Given the description of an element on the screen output the (x, y) to click on. 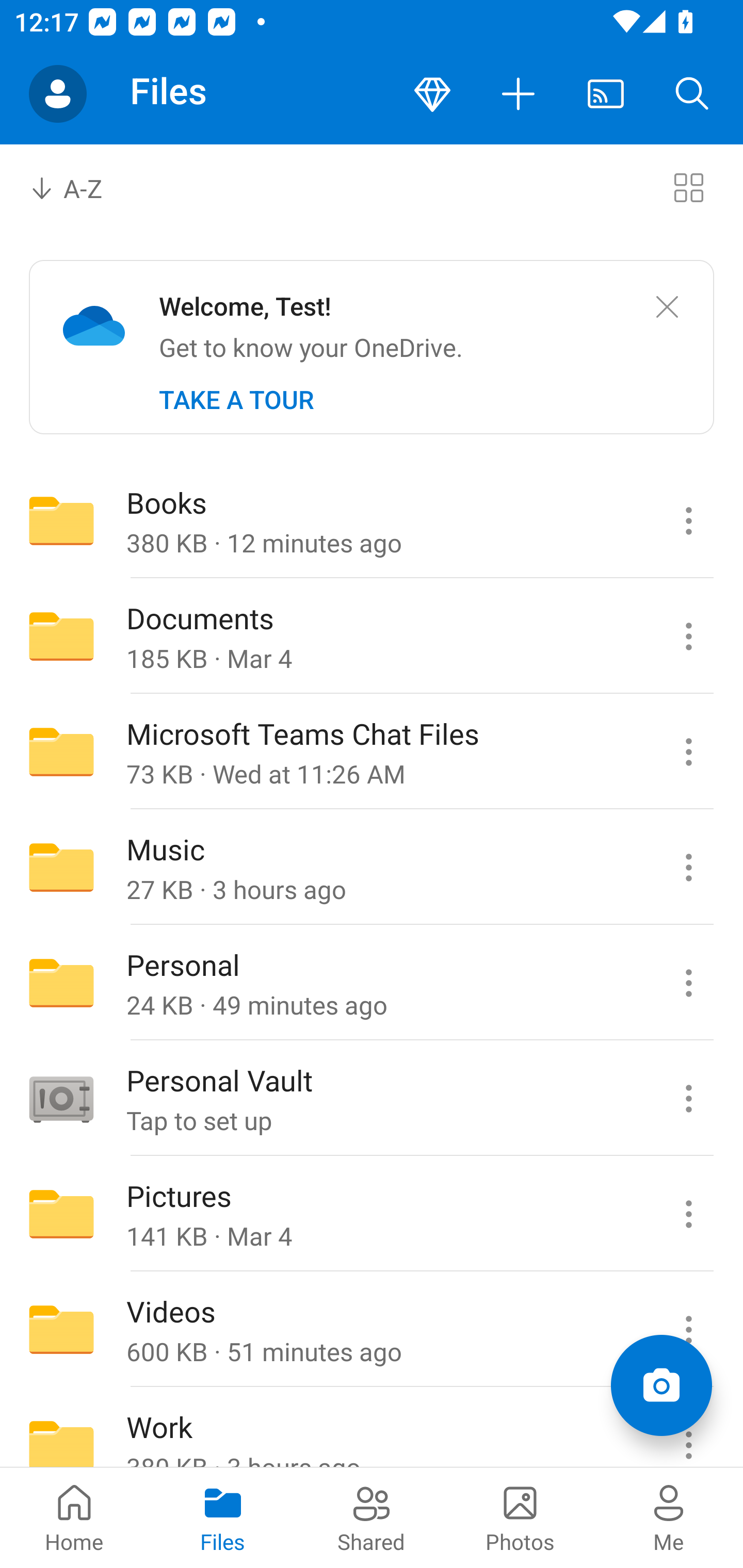
Account switcher (57, 93)
Cast. Disconnected (605, 93)
Premium button (432, 93)
More actions button (518, 93)
A-Z Sort by combo box, sort by name, A to Z (80, 187)
Switch to tiles view (688, 187)
Close (667, 307)
TAKE A TOUR (236, 399)
Books commands (688, 520)
Folder Documents 185 KB · Mar 4 Documents commands (371, 636)
Documents commands (688, 636)
Microsoft Teams Chat Files commands (688, 751)
Folder Music 27 KB · 3 hours ago Music commands (371, 867)
Music commands (688, 867)
Personal commands (688, 983)
Personal Vault commands (688, 1099)
Folder Pictures 141 KB · Mar 4 Pictures commands (371, 1214)
Pictures commands (688, 1214)
Videos commands (688, 1329)
Add items Scan (660, 1385)
Folder Work 380 KB · 3 hours ago Work commands (371, 1427)
Work commands (688, 1427)
Home pivot Home (74, 1517)
Shared pivot Shared (371, 1517)
Photos pivot Photos (519, 1517)
Me pivot Me (668, 1517)
